Given the description of an element on the screen output the (x, y) to click on. 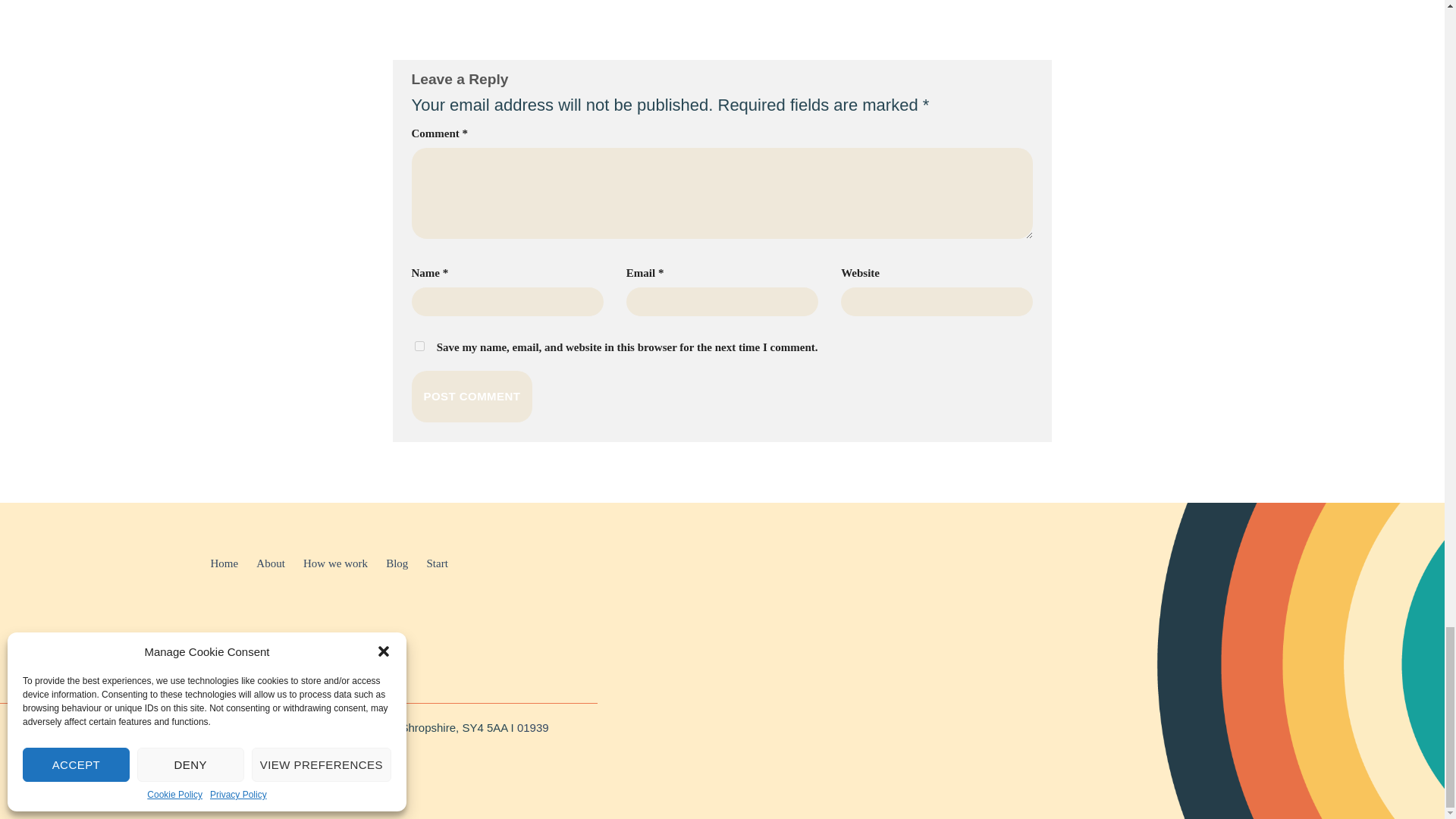
About (270, 563)
How we work (335, 563)
Home (224, 563)
Blog (396, 563)
01939 231150 (279, 737)
Privacy Policy (246, 666)
Start (437, 563)
Post Comment (471, 396)
yes (418, 346)
Post Comment (471, 396)
